Given the description of an element on the screen output the (x, y) to click on. 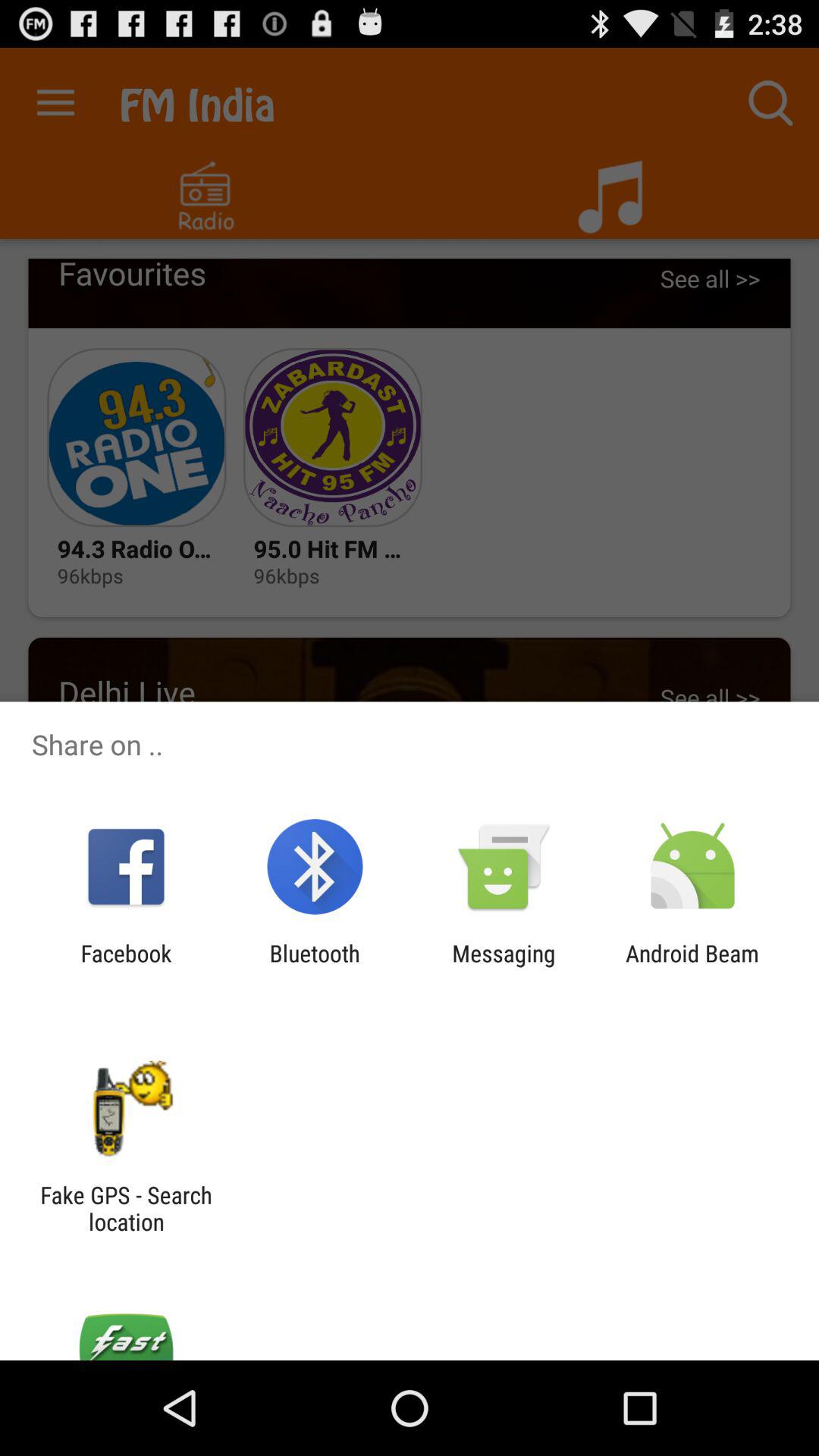
choose the icon to the left of the android beam app (503, 966)
